Given the description of an element on the screen output the (x, y) to click on. 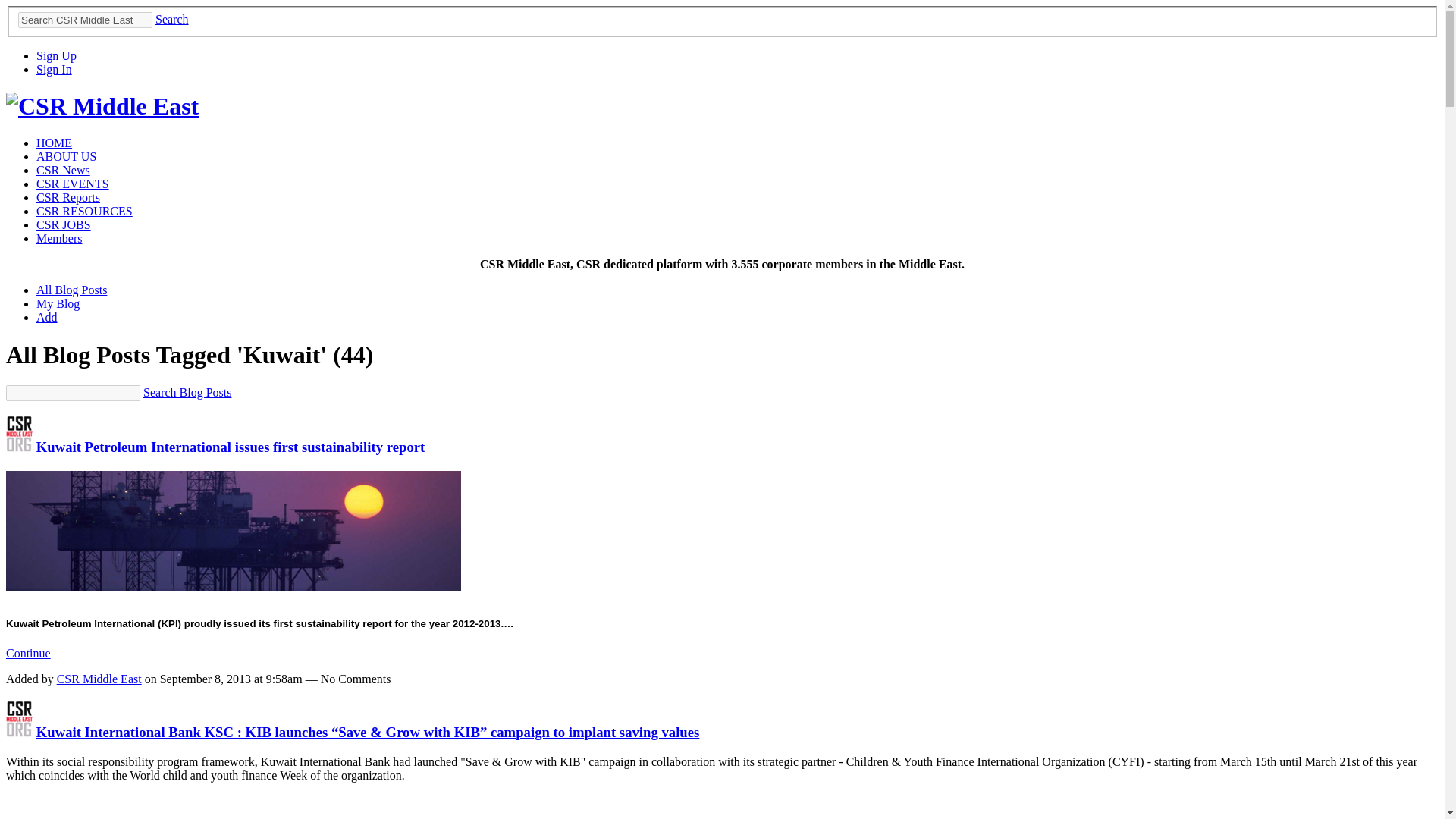
CSR News (63, 169)
HOME (53, 142)
Search CSR Middle East (84, 19)
ABOUT US (66, 155)
Sign Up (56, 55)
CSR Middle East (18, 731)
Search Blog Posts (186, 391)
CSR Middle East (18, 446)
Search (172, 19)
Search CSR Middle East (84, 19)
Sign In (53, 69)
CSR EVENTS (72, 183)
CSR Reports (68, 196)
